Given the description of an element on the screen output the (x, y) to click on. 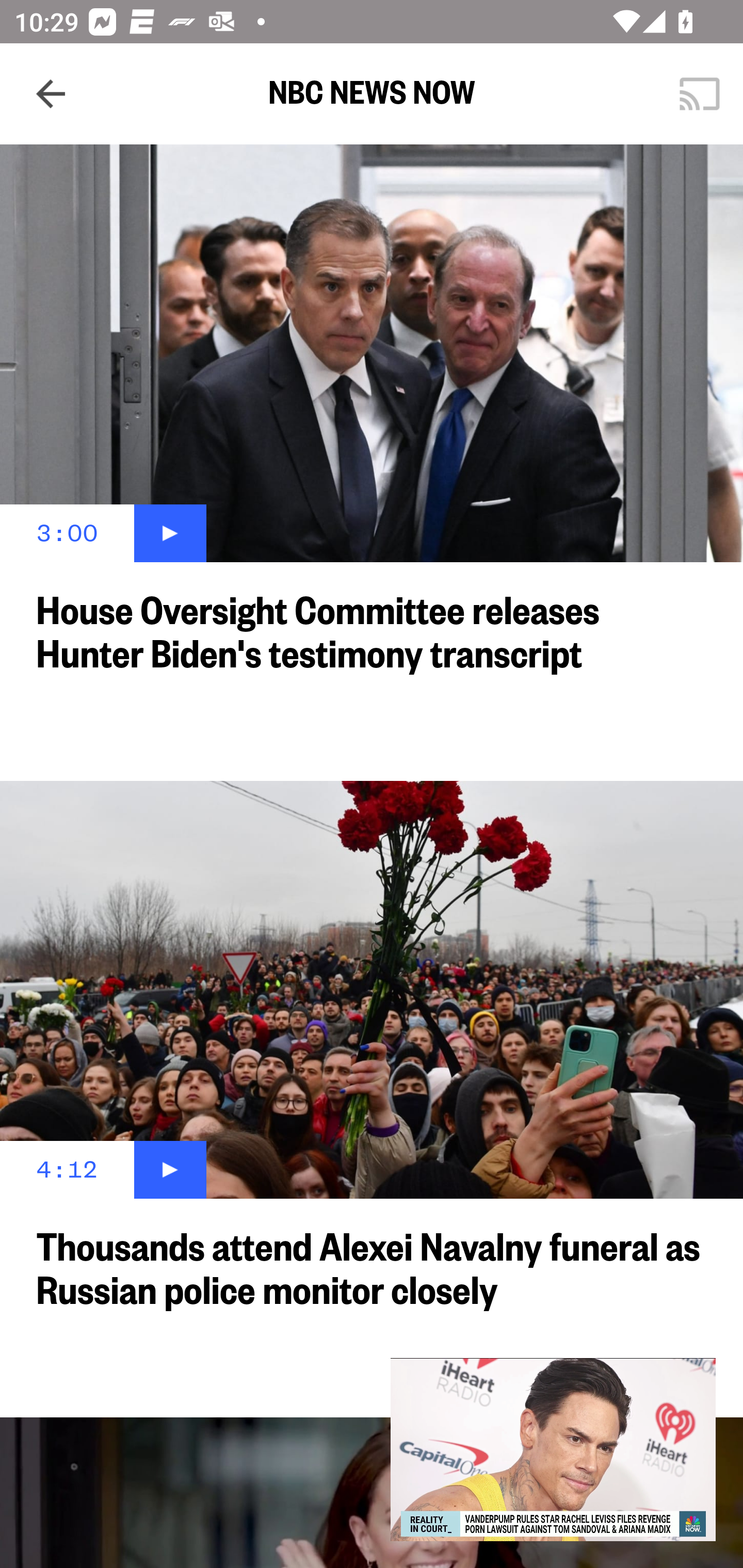
Navigate up (50, 93)
Cast. Disconnected (699, 93)
